Given the description of an element on the screen output the (x, y) to click on. 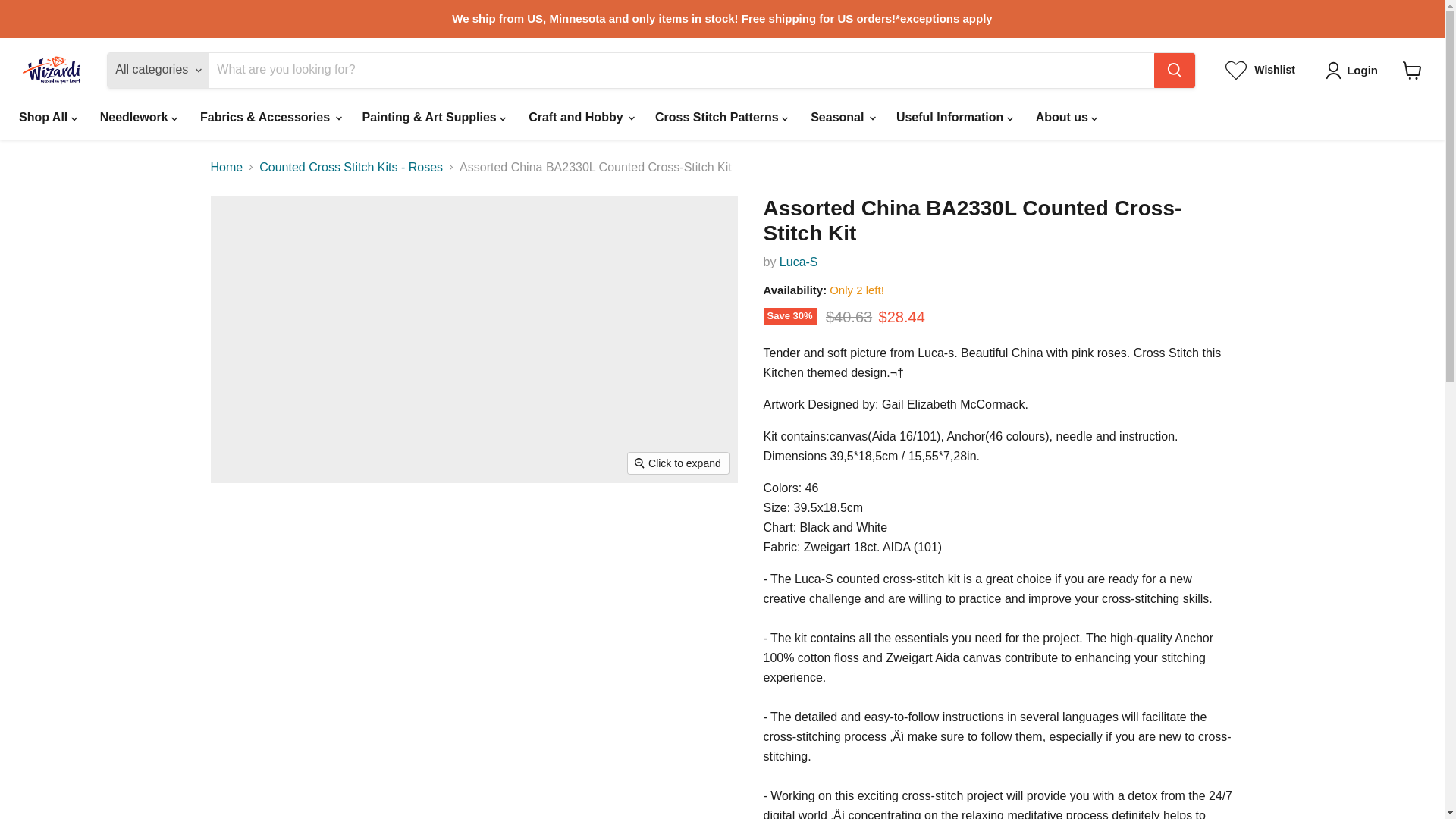
Login (1354, 70)
Luca-S (798, 261)
Wishlist (1260, 69)
View cart (1411, 69)
